Given the description of an element on the screen output the (x, y) to click on. 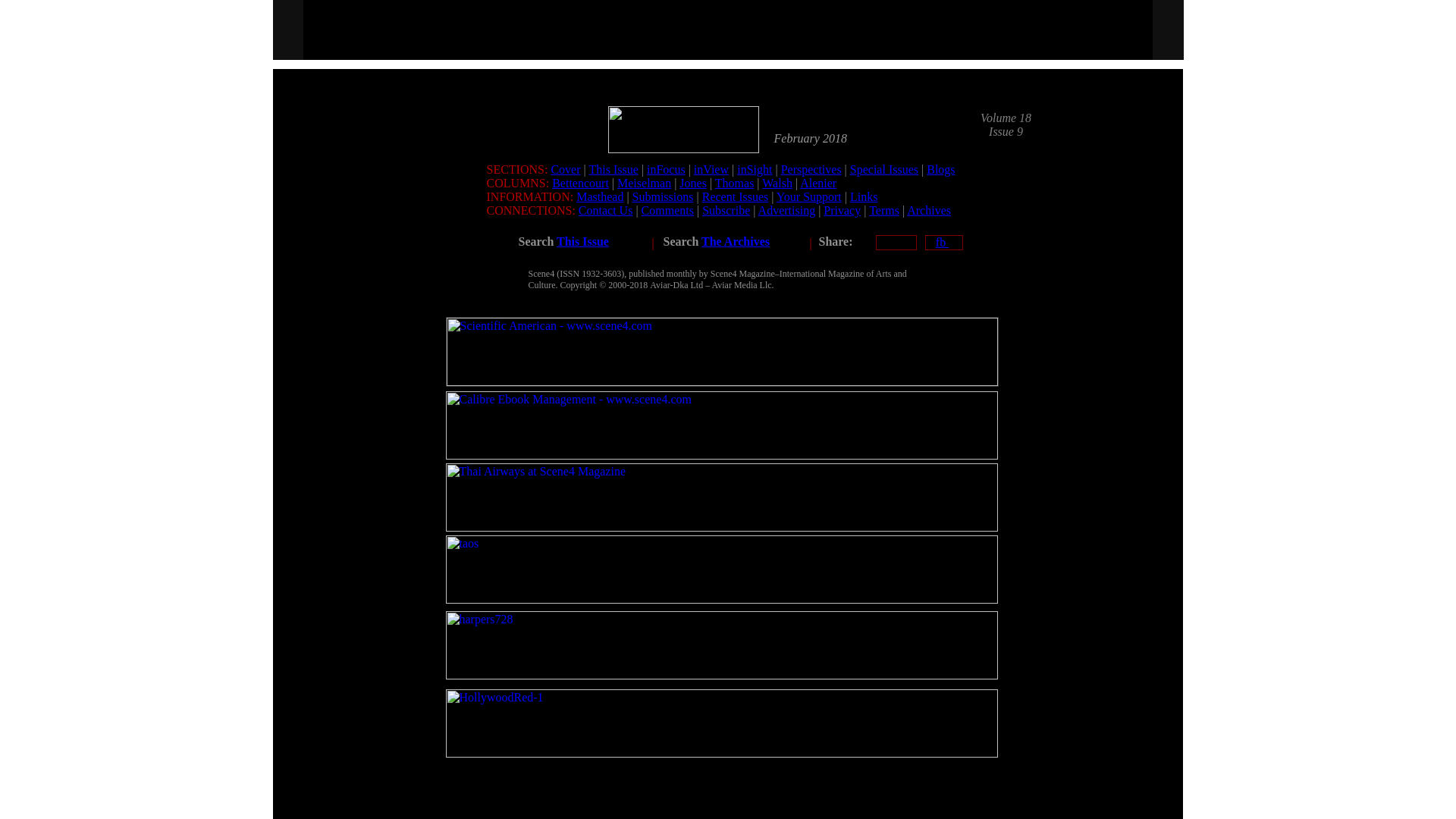
Comments (668, 210)
Blogs (940, 169)
Bettencourt (579, 182)
Subscribe (725, 210)
Email (895, 241)
Masthead (599, 196)
Perspectives (810, 169)
Advertising (786, 210)
Thomas (734, 182)
harpers728 (721, 644)
